Given the description of an element on the screen output the (x, y) to click on. 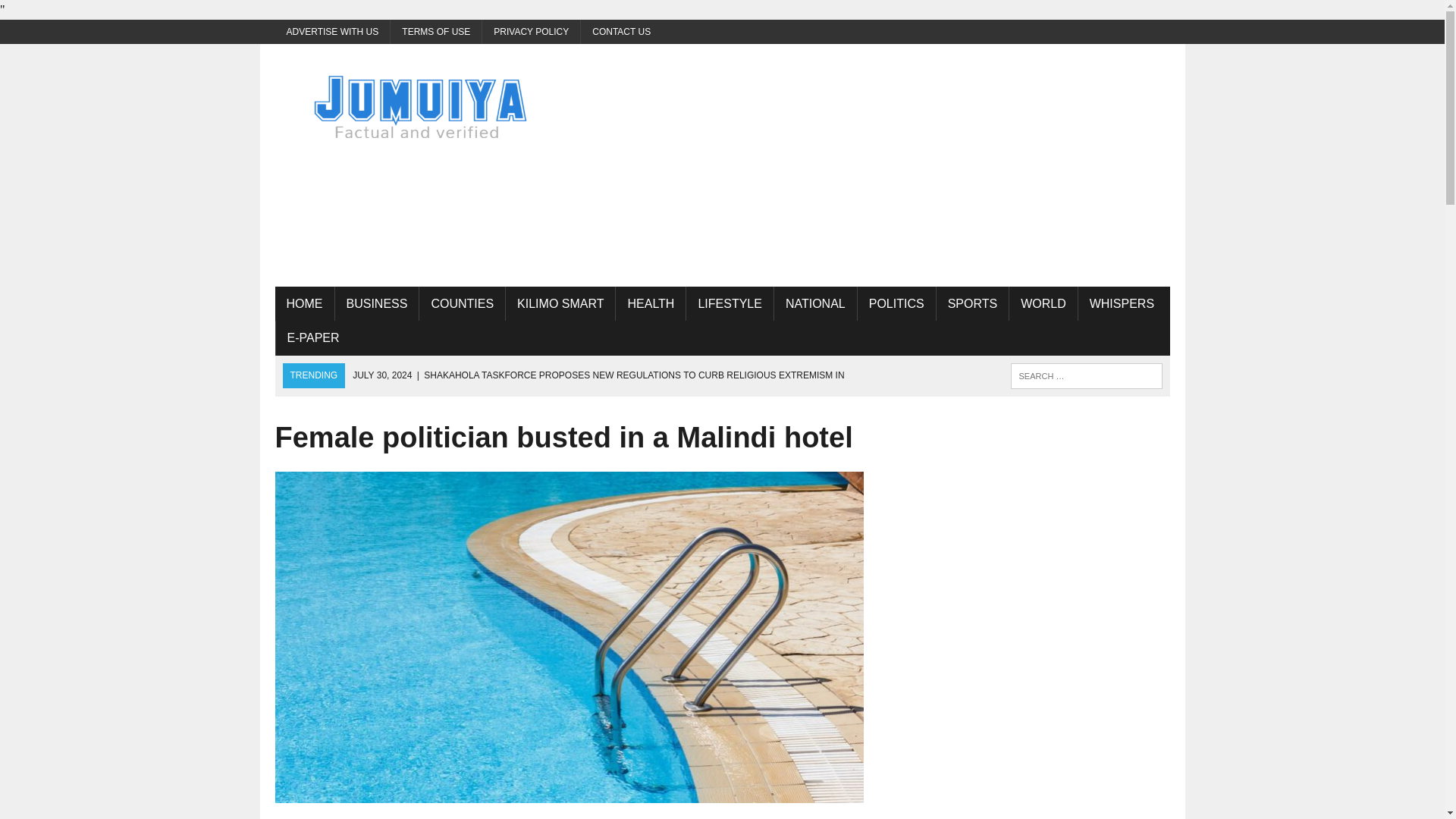
SPORTS (972, 303)
Search (75, 14)
LIFESTYLE (729, 303)
WHISPERS (1122, 303)
HEALTH (650, 303)
WORLD (1043, 303)
NATIONAL (815, 303)
COUNTIES (462, 303)
PRIVACY POLICY (530, 31)
TERMS OF USE (435, 31)
BUSINESS (376, 303)
Jumuiya (416, 105)
CONTACT US (621, 31)
POLITICS (896, 303)
ADVERTISE WITH US (332, 31)
